Given the description of an element on the screen output the (x, y) to click on. 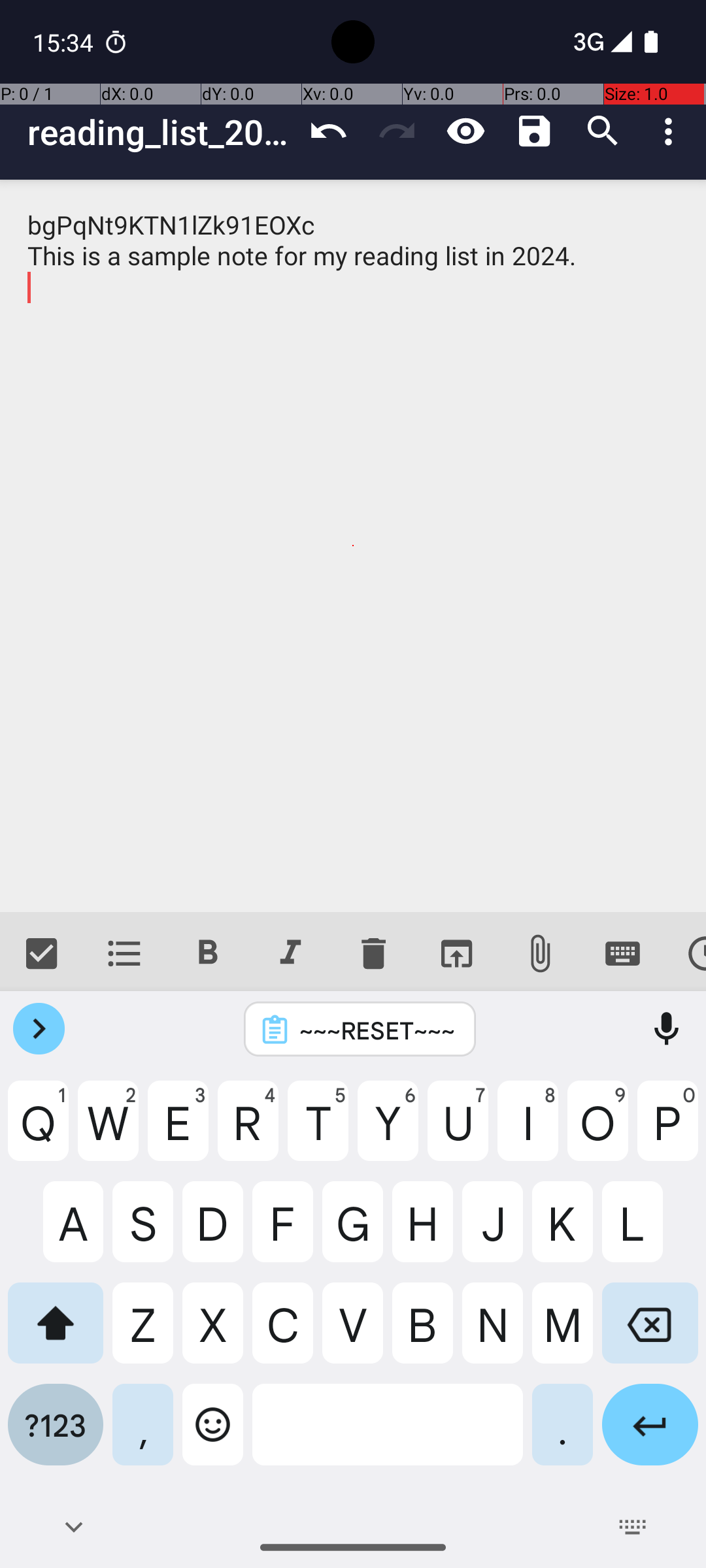
reading_list_2024_2023_03_11 Element type: android.widget.TextView (160, 131)
bgPqNt9KTN1lZk91EOXc
This is a sample note for my reading list in 2024.
 Element type: android.widget.EditText (353, 545)
